Given the description of an element on the screen output the (x, y) to click on. 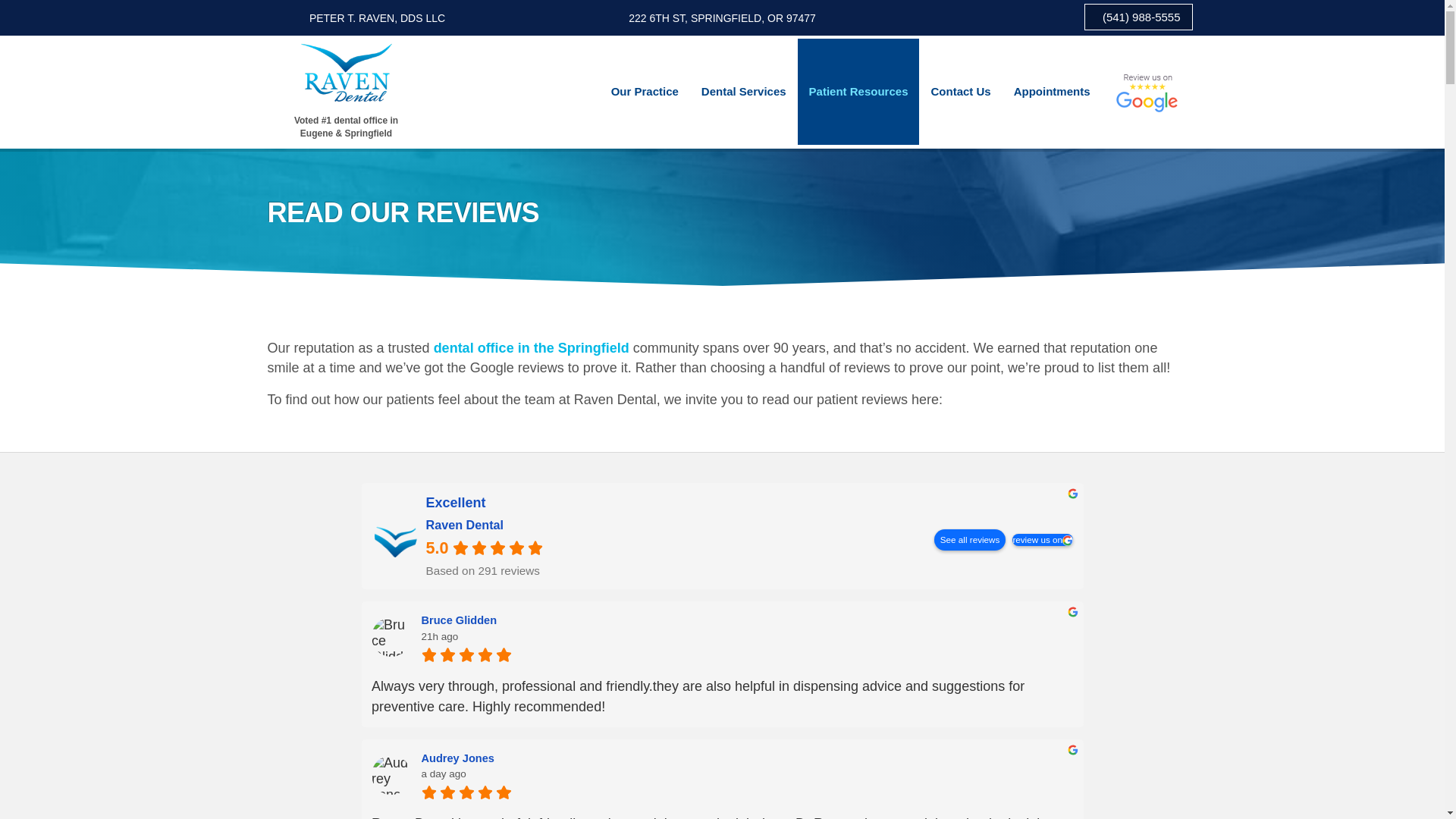
Patient Resources (858, 91)
Dental Services (743, 91)
Appointments (1052, 91)
Patient Resources (858, 91)
Dental Services (743, 91)
Appointments (1052, 91)
